Given the description of an element on the screen output the (x, y) to click on. 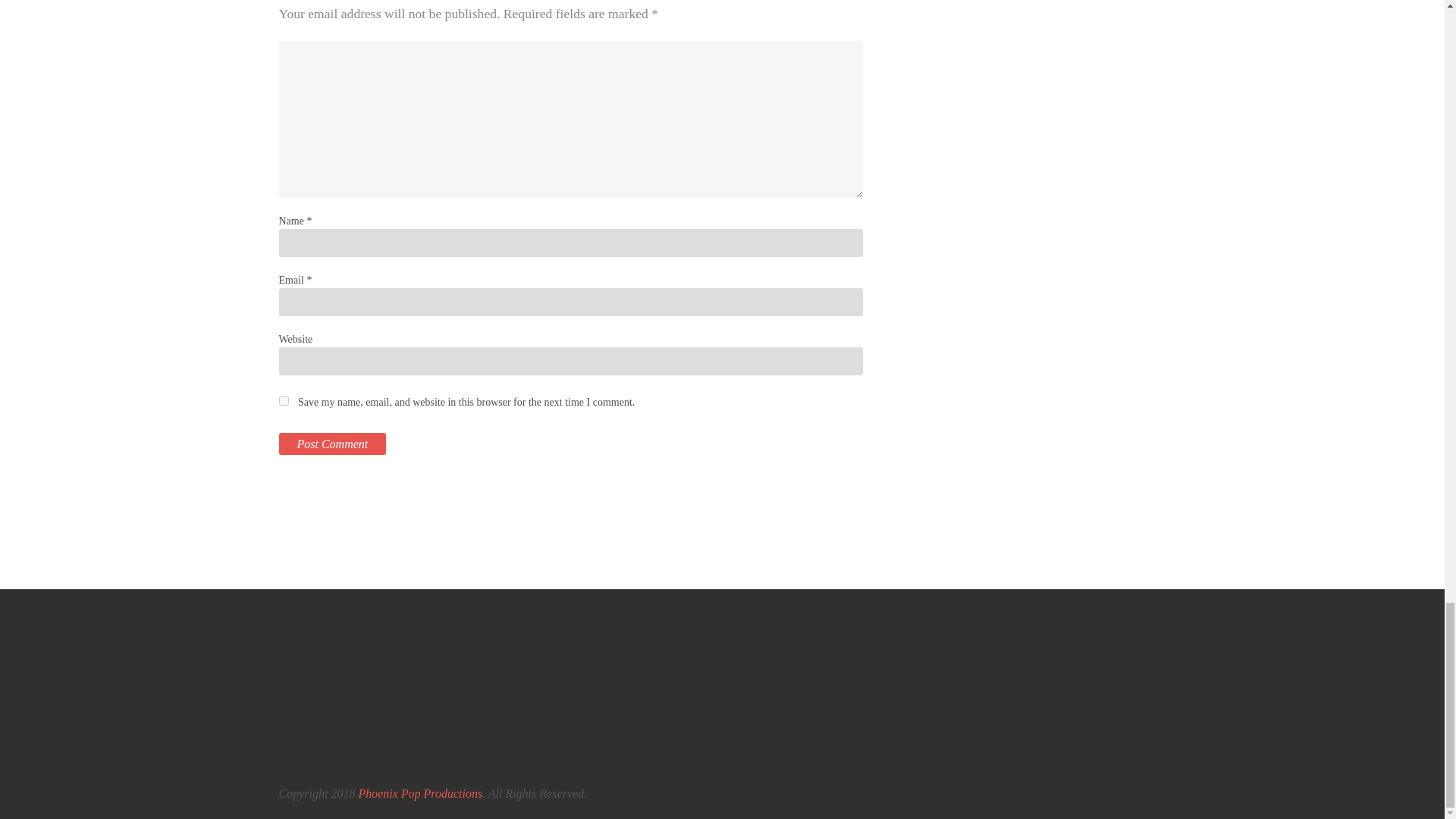
Post Comment (333, 444)
yes (283, 400)
